Given the description of an element on the screen output the (x, y) to click on. 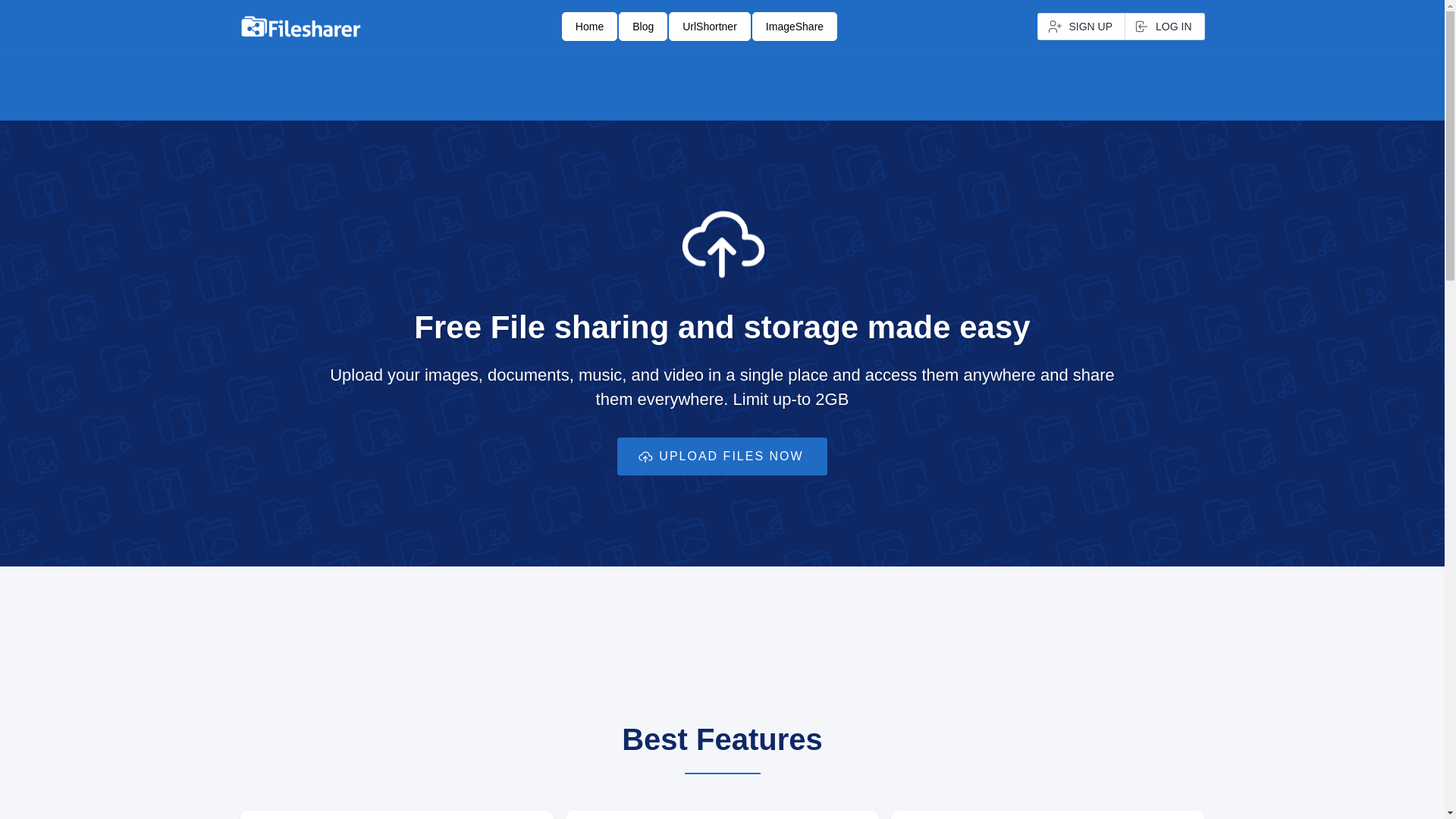
Home Element type: text (589, 26)
Advertisement Element type: hover (721, 649)
UrlShortner Element type: text (709, 26)
Blog Element type: text (642, 26)
ImageShare Element type: text (794, 26)
LOG IN Element type: text (1164, 26)
Advertisement Element type: hover (722, 82)
SIGN UP Element type: text (1081, 26)
UPLOAD FILES NOW Element type: text (721, 456)
